Given the description of an element on the screen output the (x, y) to click on. 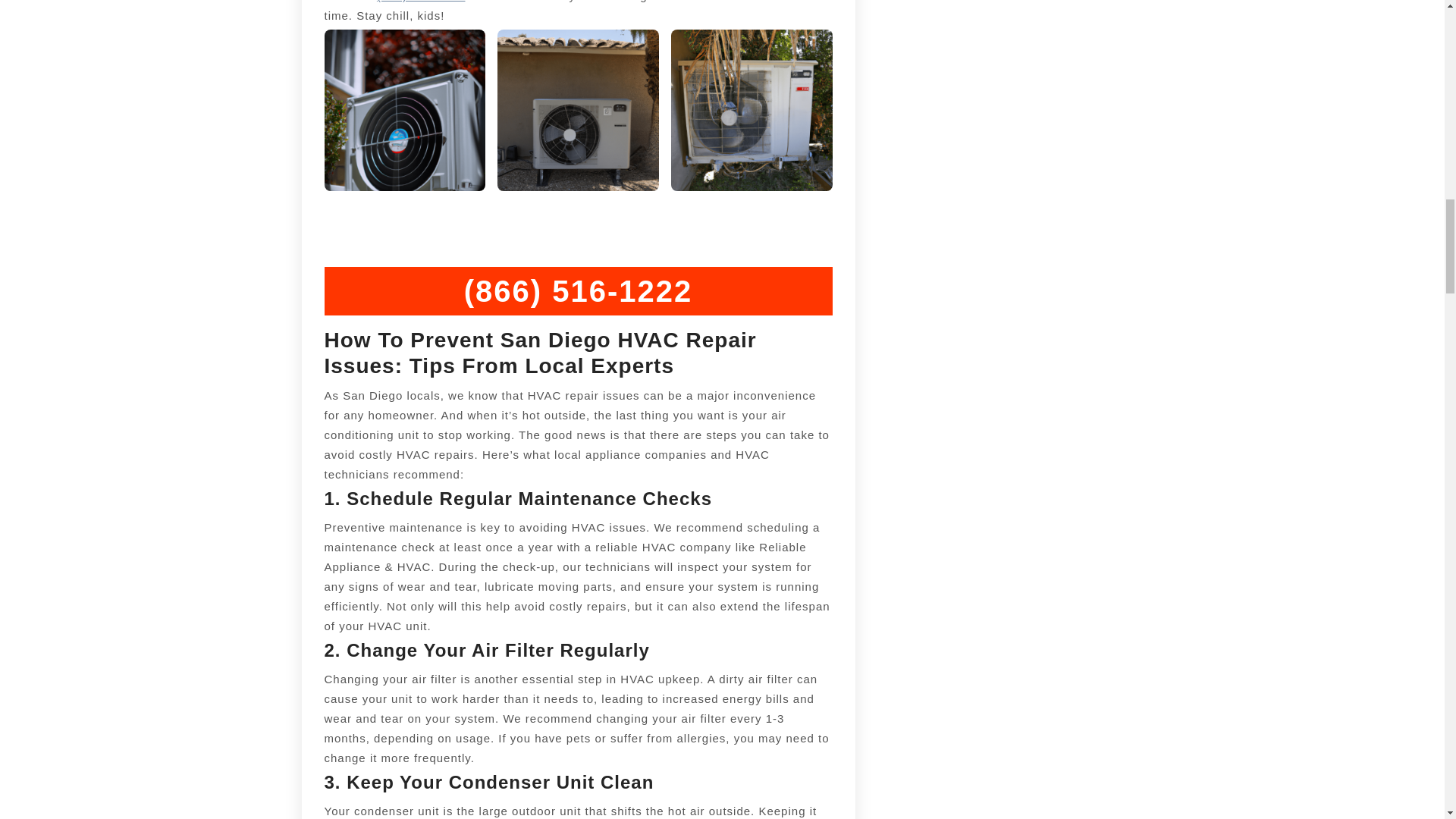
HVAC Repair in San Diego (751, 109)
HVAC Repair in San Diego (578, 109)
HVAC Repair in San Diego (421, 1)
HVAC Repair in San Diego (405, 109)
